Given the description of an element on the screen output the (x, y) to click on. 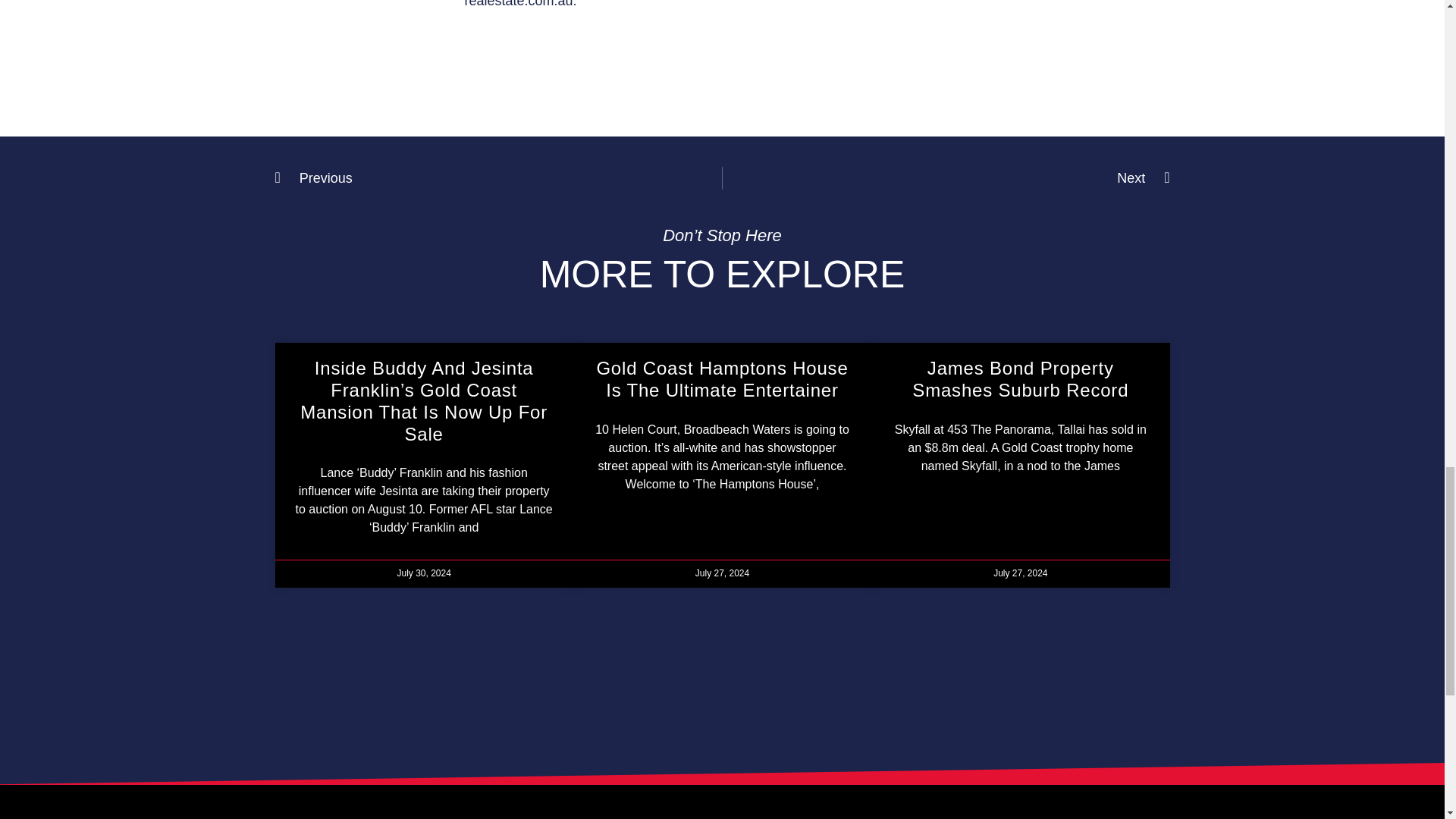
Gold Coast Hamptons House Is The Ultimate Entertainer (721, 378)
Previous (498, 178)
Next (946, 178)
James Bond Property Smashes Suburb Record (1020, 378)
